Given the description of an element on the screen output the (x, y) to click on. 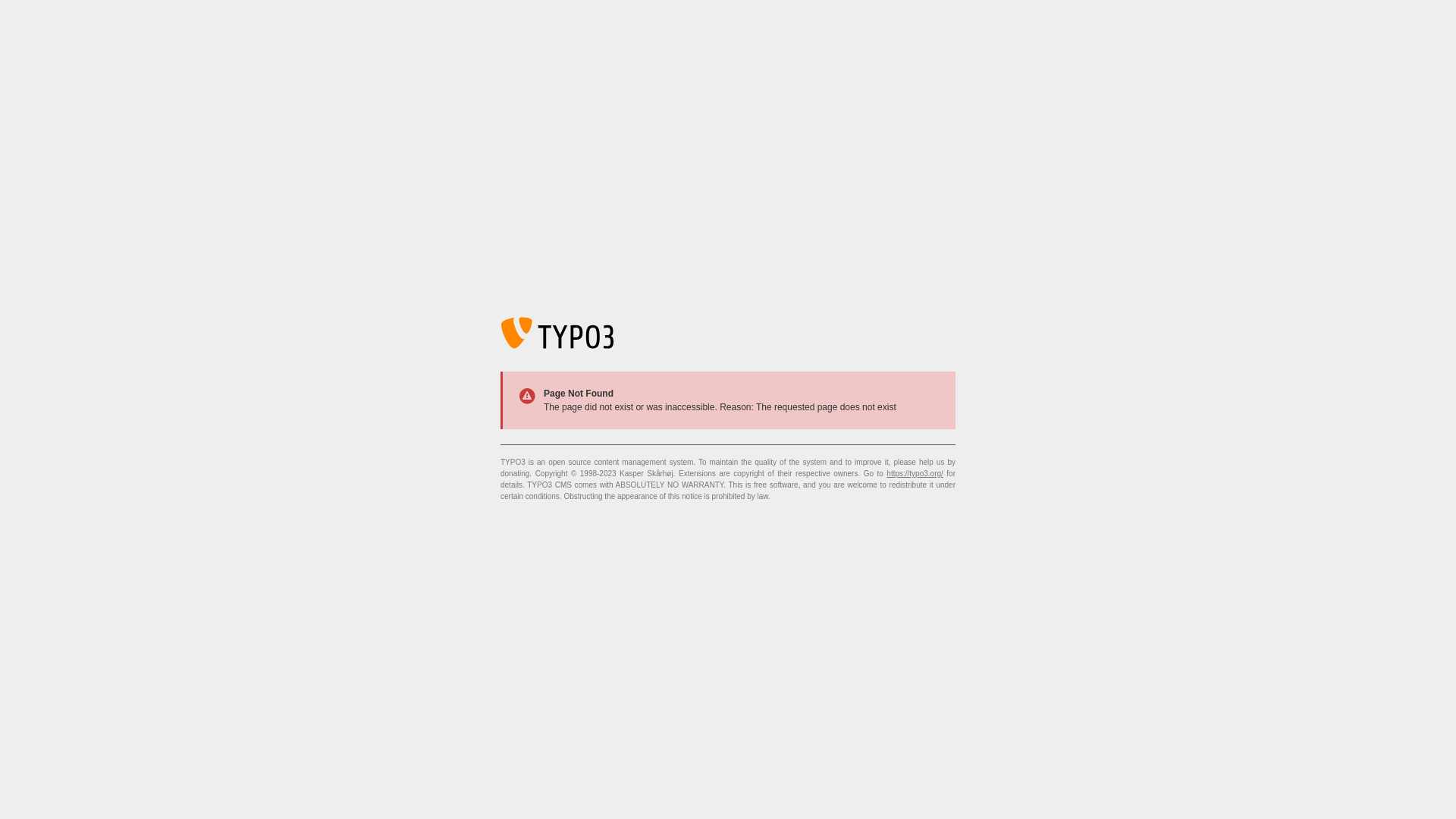
https://typo3.org/ Element type: text (914, 473)
